Given the description of an element on the screen output the (x, y) to click on. 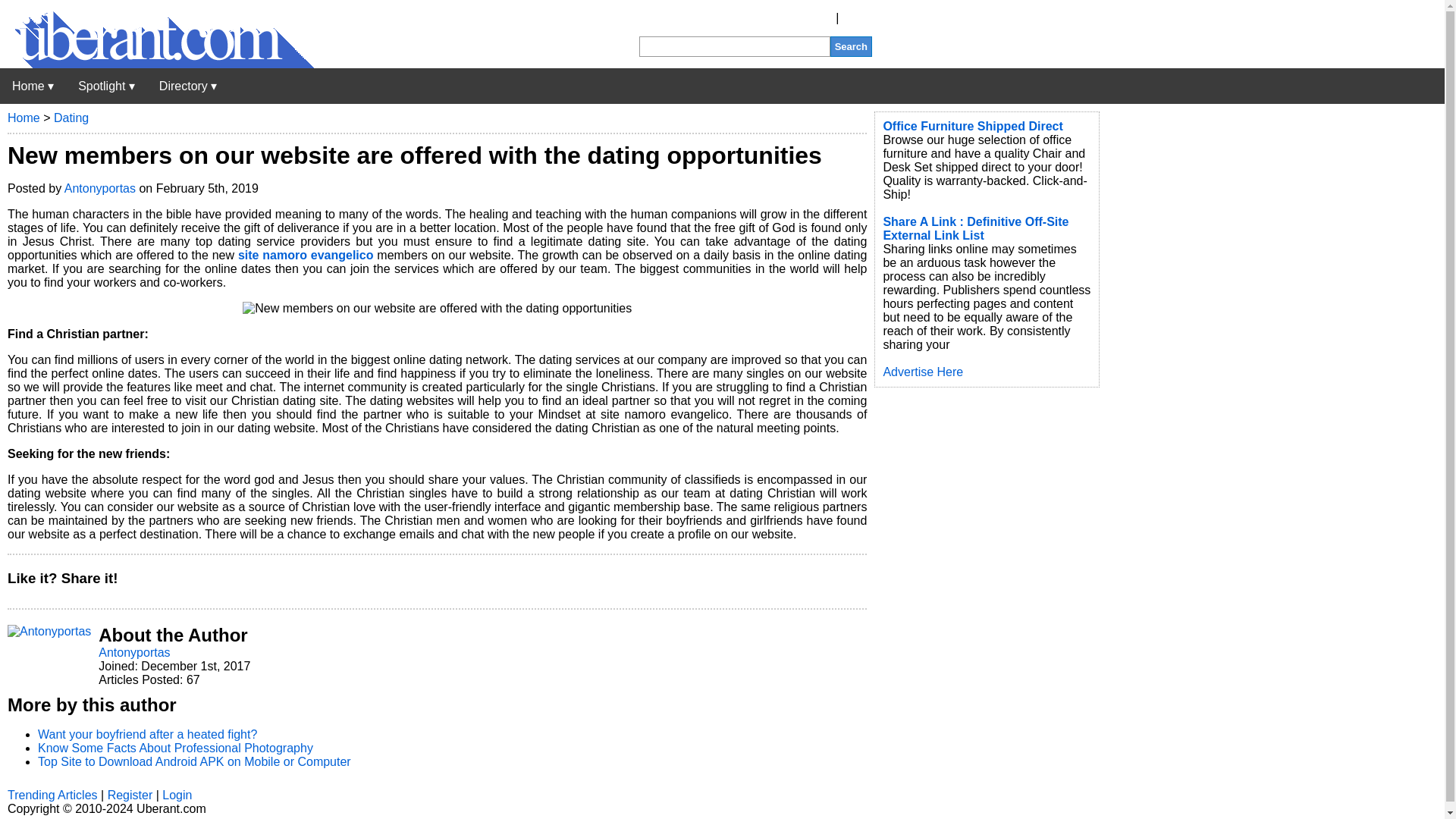
Uberant (157, 63)
Uberant (32, 85)
Register (809, 17)
Search (850, 46)
Login (857, 17)
Search (850, 46)
